Given the description of an element on the screen output the (x, y) to click on. 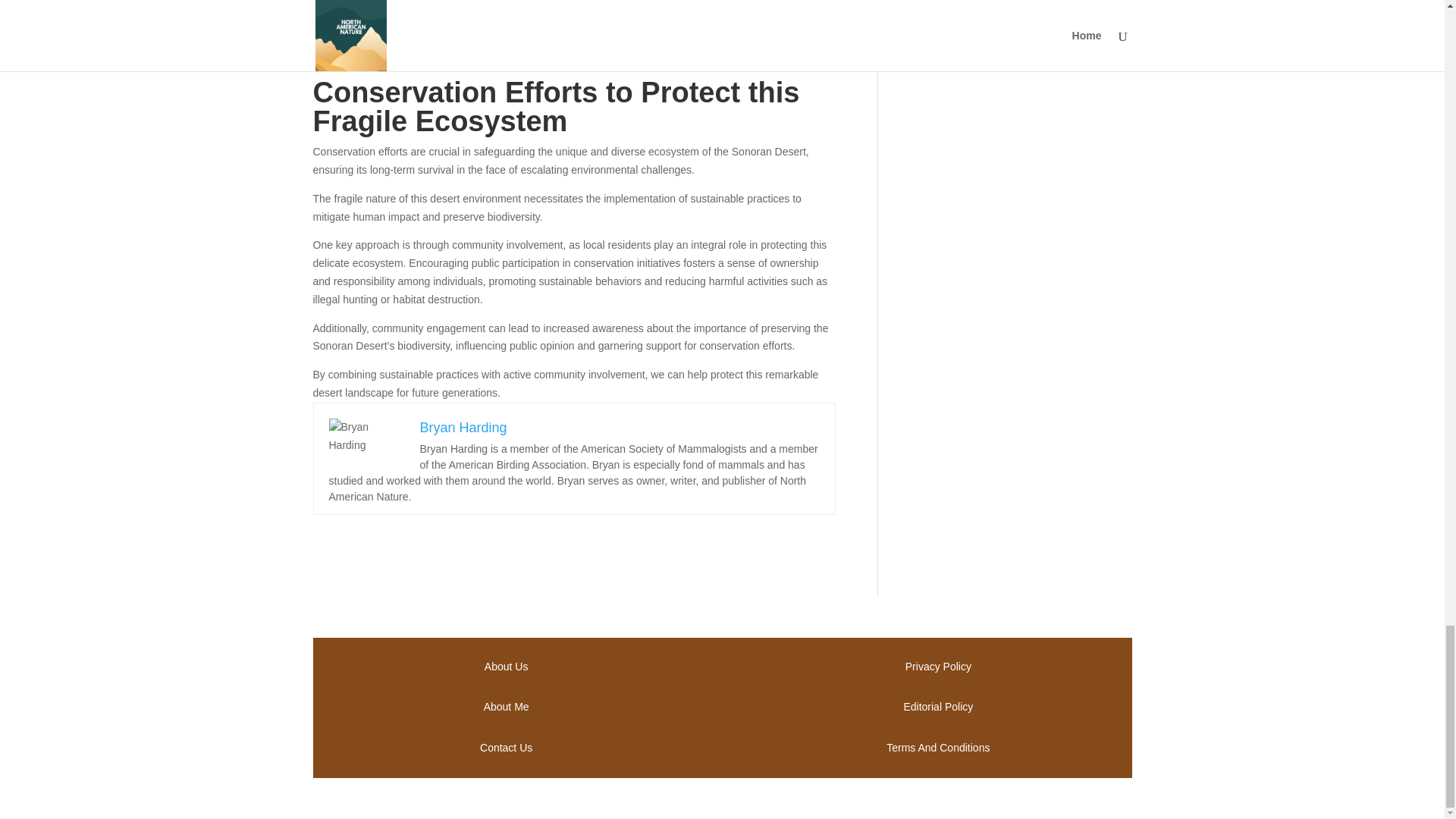
Bryan Harding (463, 427)
